Given the description of an element on the screen output the (x, y) to click on. 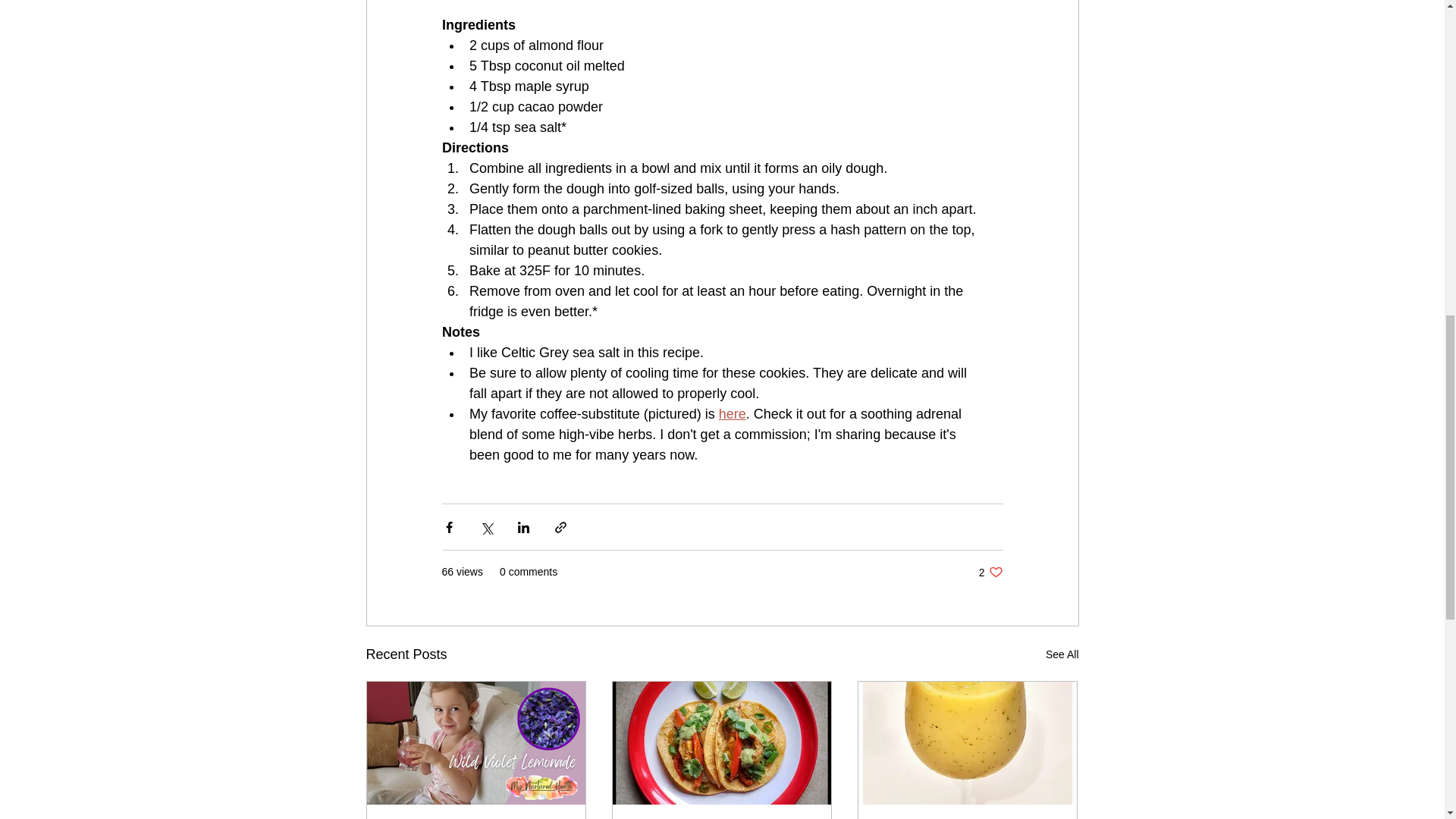
See All (1061, 654)
here (990, 572)
